Given the description of an element on the screen output the (x, y) to click on. 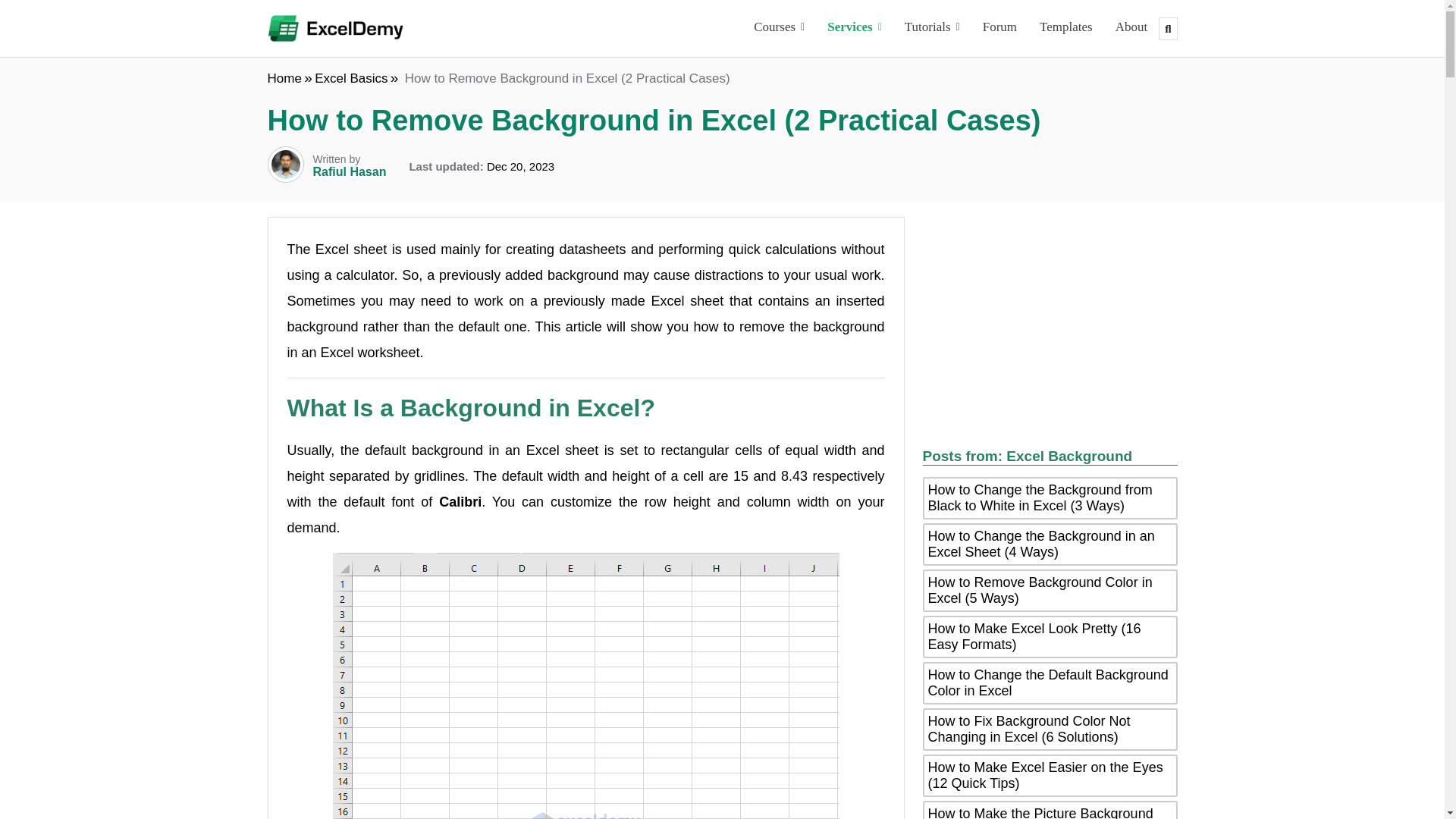
Forum (999, 28)
Home (283, 78)
About (1130, 28)
Services (854, 28)
Tutorials (932, 28)
Courses (778, 28)
Excel Basics (350, 78)
Templates (1065, 28)
Rafiul Hasan (349, 171)
